Given the description of an element on the screen output the (x, y) to click on. 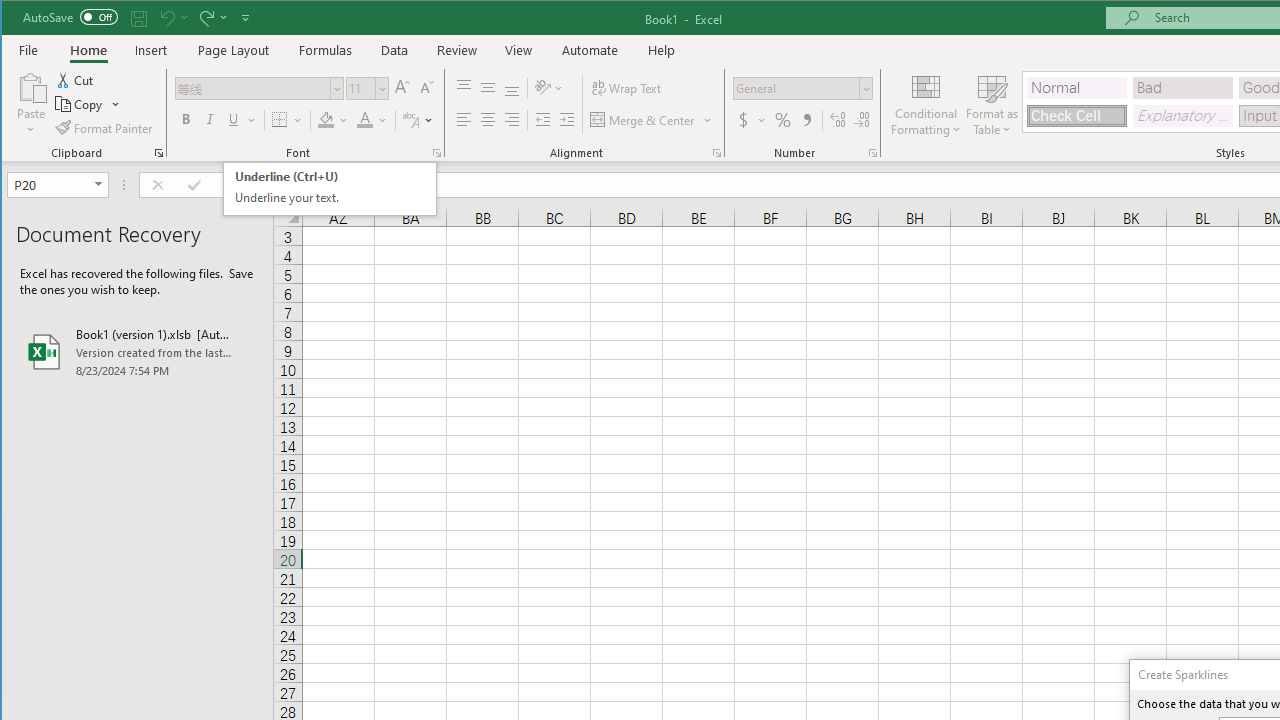
Bold (186, 119)
Copy (88, 103)
Decrease Decimal (861, 119)
Font Color (372, 119)
Conditional Formatting (926, 104)
Format as Table (992, 104)
Increase Indent (566, 119)
Align Left (463, 119)
Merge & Center (651, 119)
Center (488, 119)
Orientation (550, 88)
Font (253, 88)
